Given the description of an element on the screen output the (x, y) to click on. 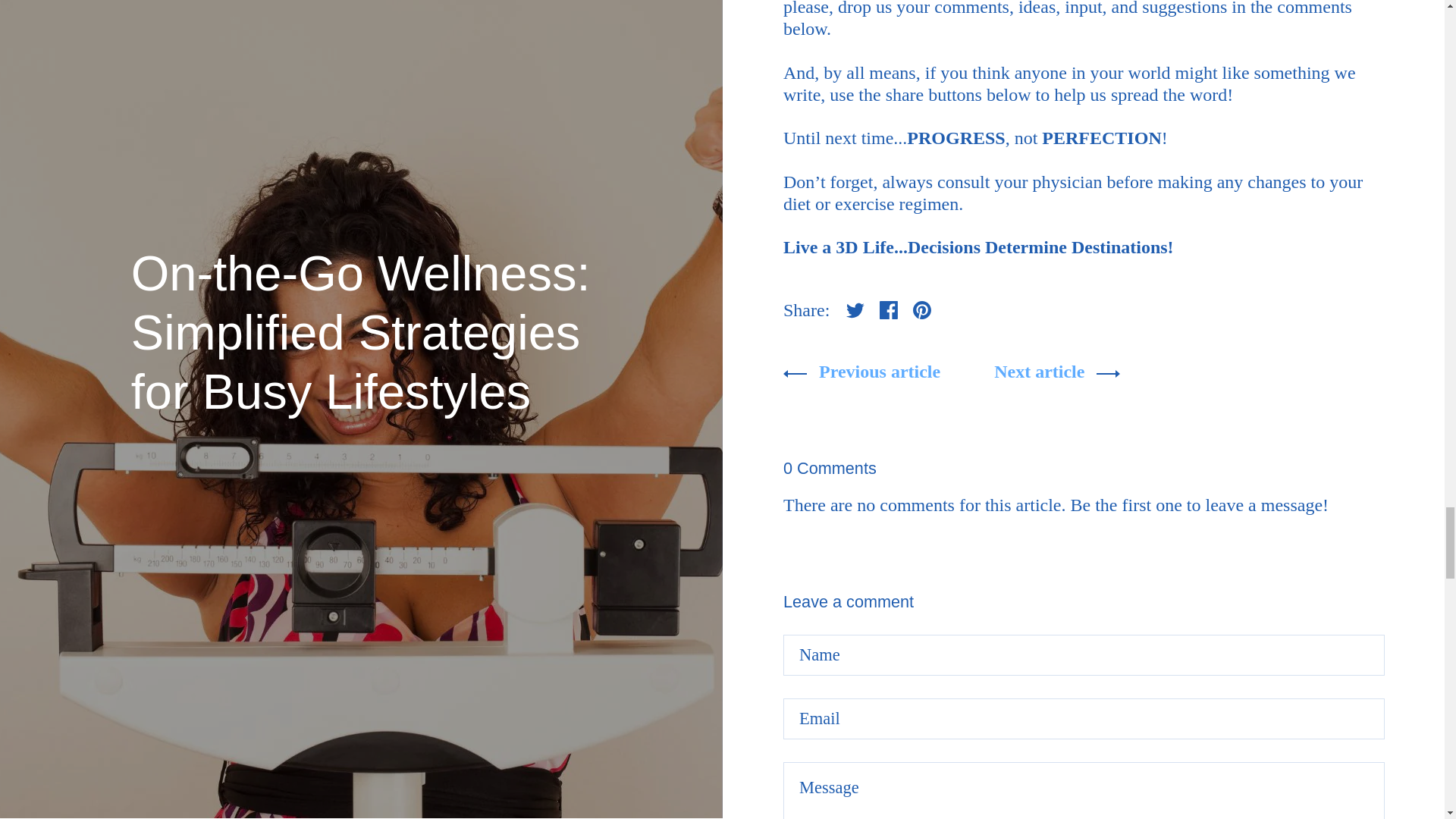
Share on facebook (888, 309)
Share on pinterest (922, 309)
Share on twitter (855, 309)
